Given the description of an element on the screen output the (x, y) to click on. 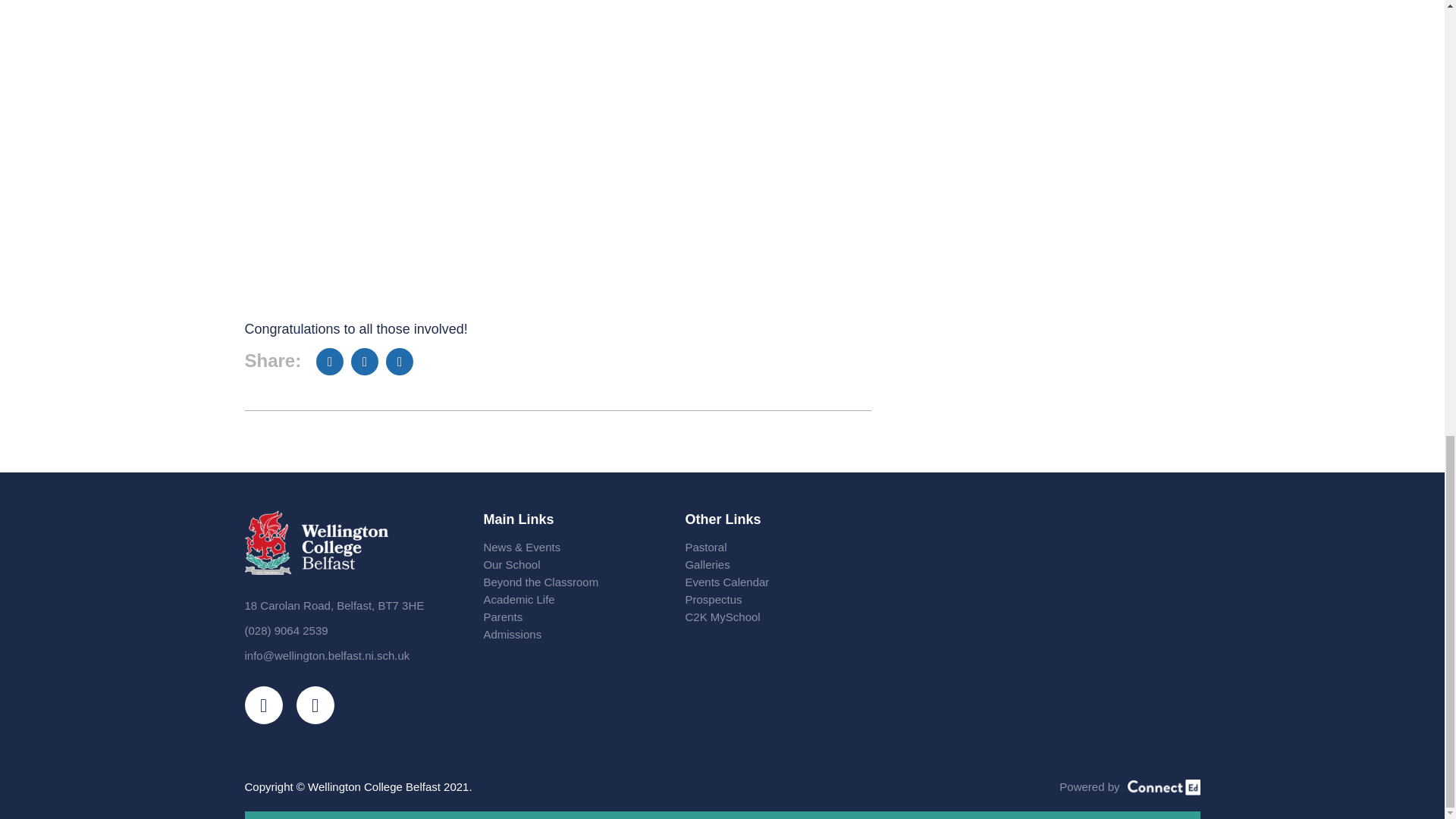
Our School (568, 564)
connected-logo (1162, 787)
Beyond the Classroom (568, 581)
wellington college belfast (1031, 614)
